Given the description of an element on the screen output the (x, y) to click on. 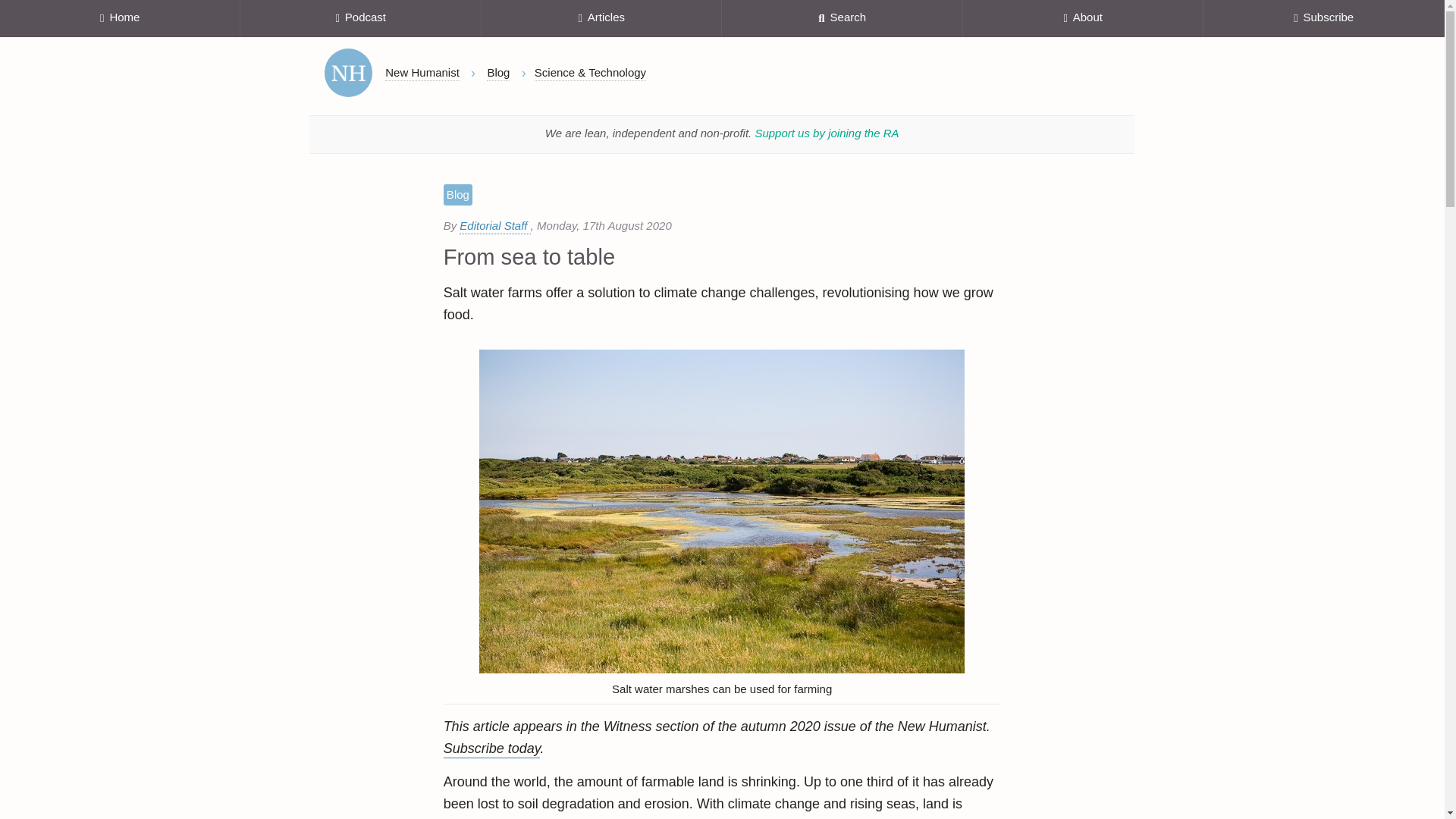
Search (842, 18)
Editorial Staff (494, 226)
Podcast (360, 18)
New Humanist (422, 73)
Subscribe today (492, 749)
Home (120, 18)
Subscribe (1324, 18)
Blog (497, 73)
Articles (601, 18)
About (1083, 18)
Home (348, 72)
